Given the description of an element on the screen output the (x, y) to click on. 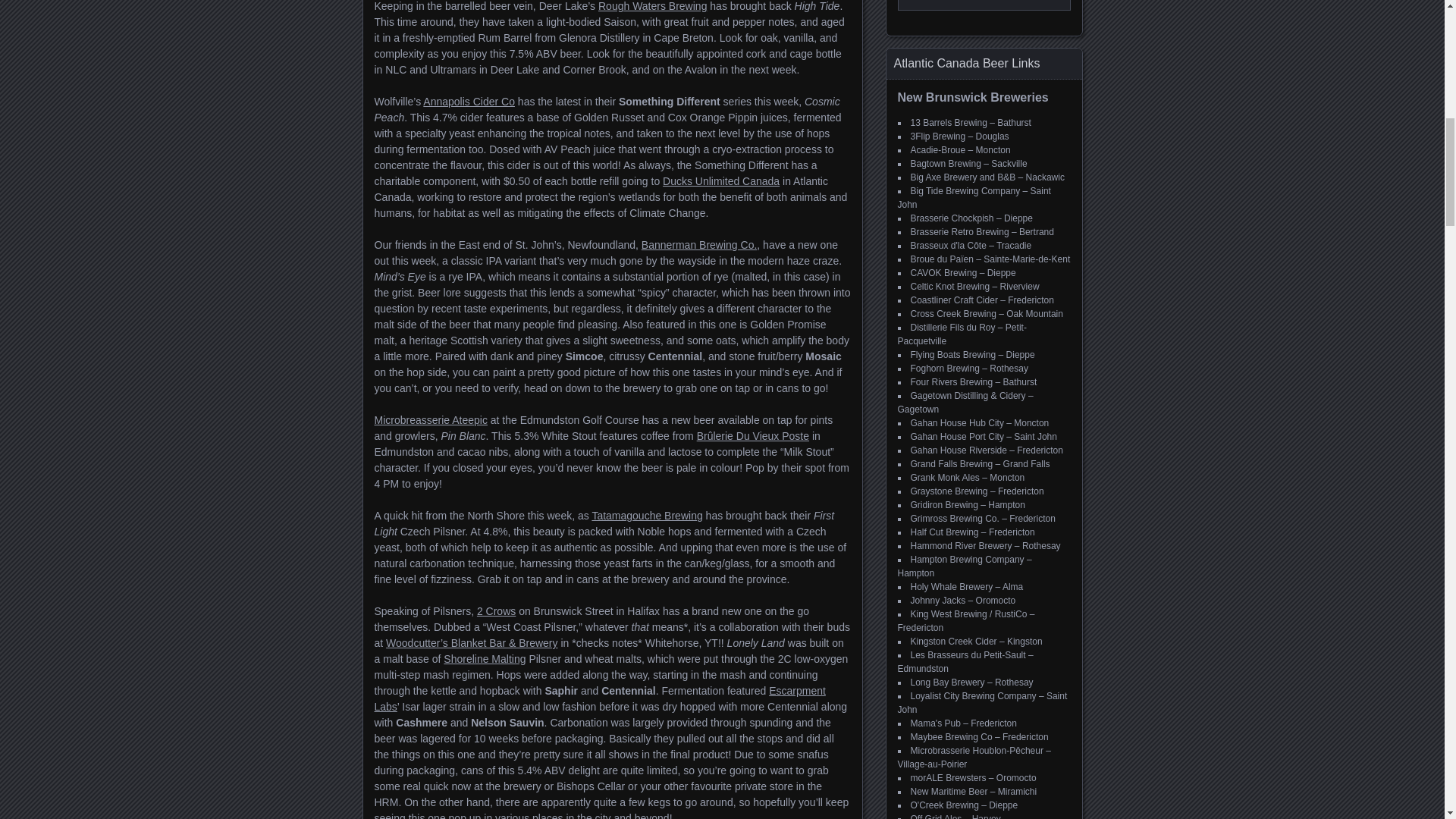
Ducks Unlimited Canada (720, 181)
2 Crows (496, 611)
Bannerman Brewing Co. (699, 244)
Escarpment Labs (599, 698)
Microbreasserie Ateepic (430, 419)
Rough Waters Brewing (652, 6)
Annapolis Cider Co (469, 101)
Shoreline Malting (484, 658)
Tatamagouche Brewing (646, 515)
